Given the description of an element on the screen output the (x, y) to click on. 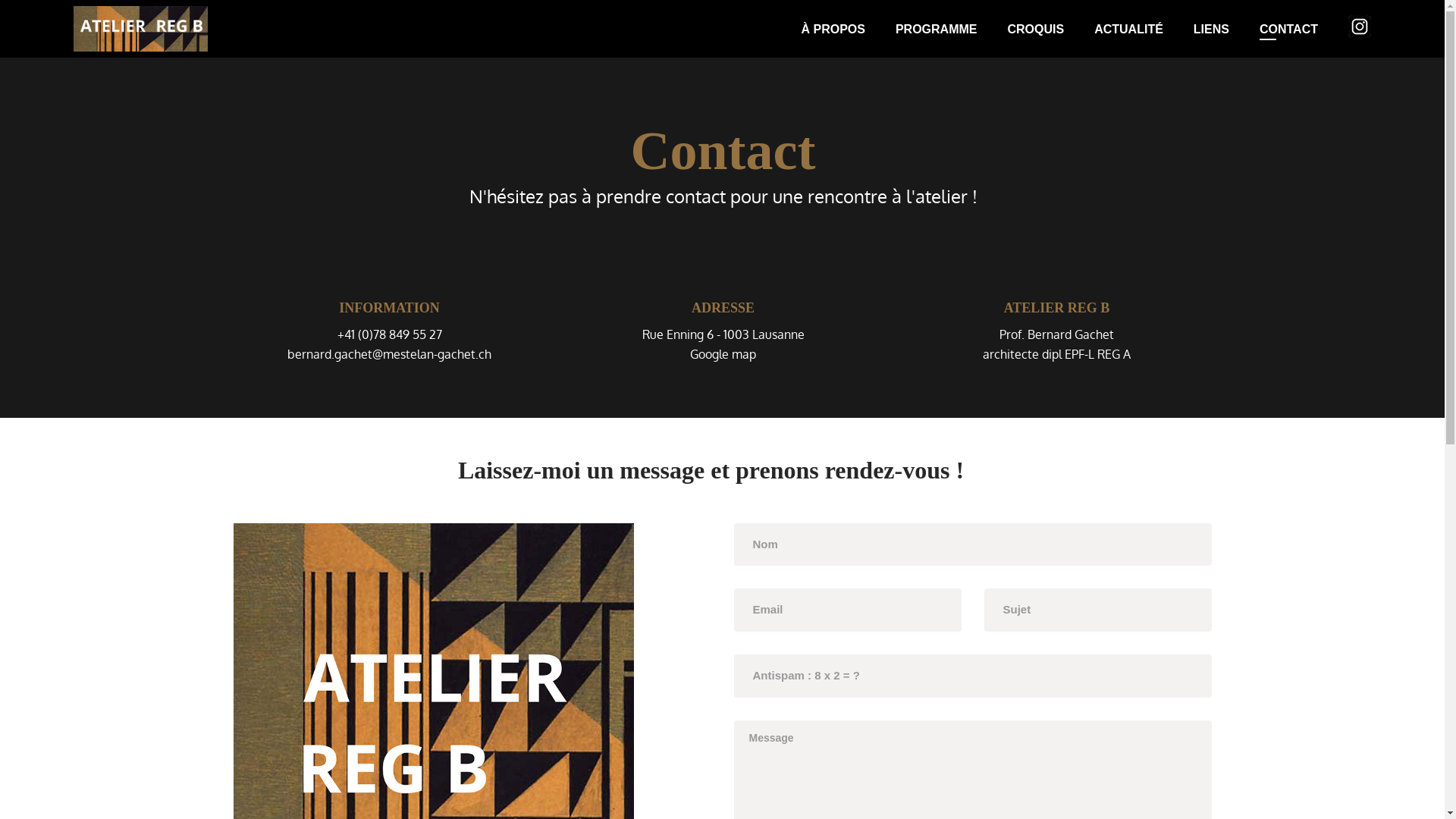
Google map Element type: text (723, 353)
PROGRAMME Element type: text (951, 28)
CONTACT Element type: text (1303, 28)
+41 (0)78 849 55 27 Element type: text (388, 334)
LIENS Element type: text (1226, 28)
CROQUIS Element type: text (1050, 28)
bernard.gachet@mestelan-gachet.ch Element type: text (389, 353)
